Given the description of an element on the screen output the (x, y) to click on. 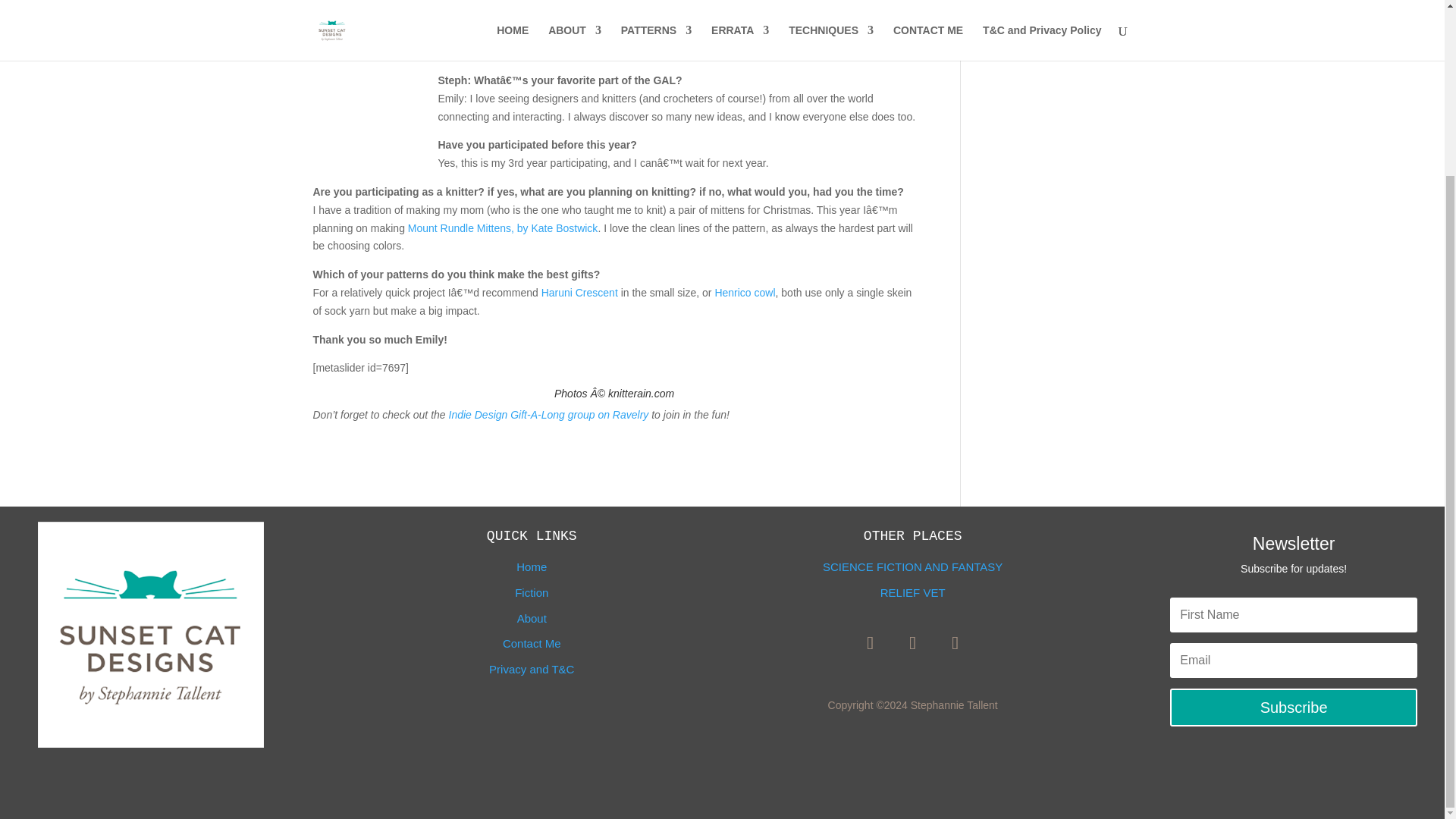
Indie Design Gift-A-Long group on Ravelry (548, 414)
Haruni Crescent (579, 292)
Follow on Instagram (955, 642)
Mount Rundle Mittens, by Kate Bostwick (502, 227)
Follow on X (913, 642)
Ravelry page here (813, 51)
Fiction (531, 592)
RELIEF VET (912, 592)
Home (531, 566)
cropped-square-logo-for-landing-page-with-white-border.png (150, 634)
Subscribe (1293, 707)
Contact Me (531, 643)
Follow on Facebook (869, 642)
About (531, 617)
SCIENCE FICTION AND FANTASY (912, 566)
